Given the description of an element on the screen output the (x, y) to click on. 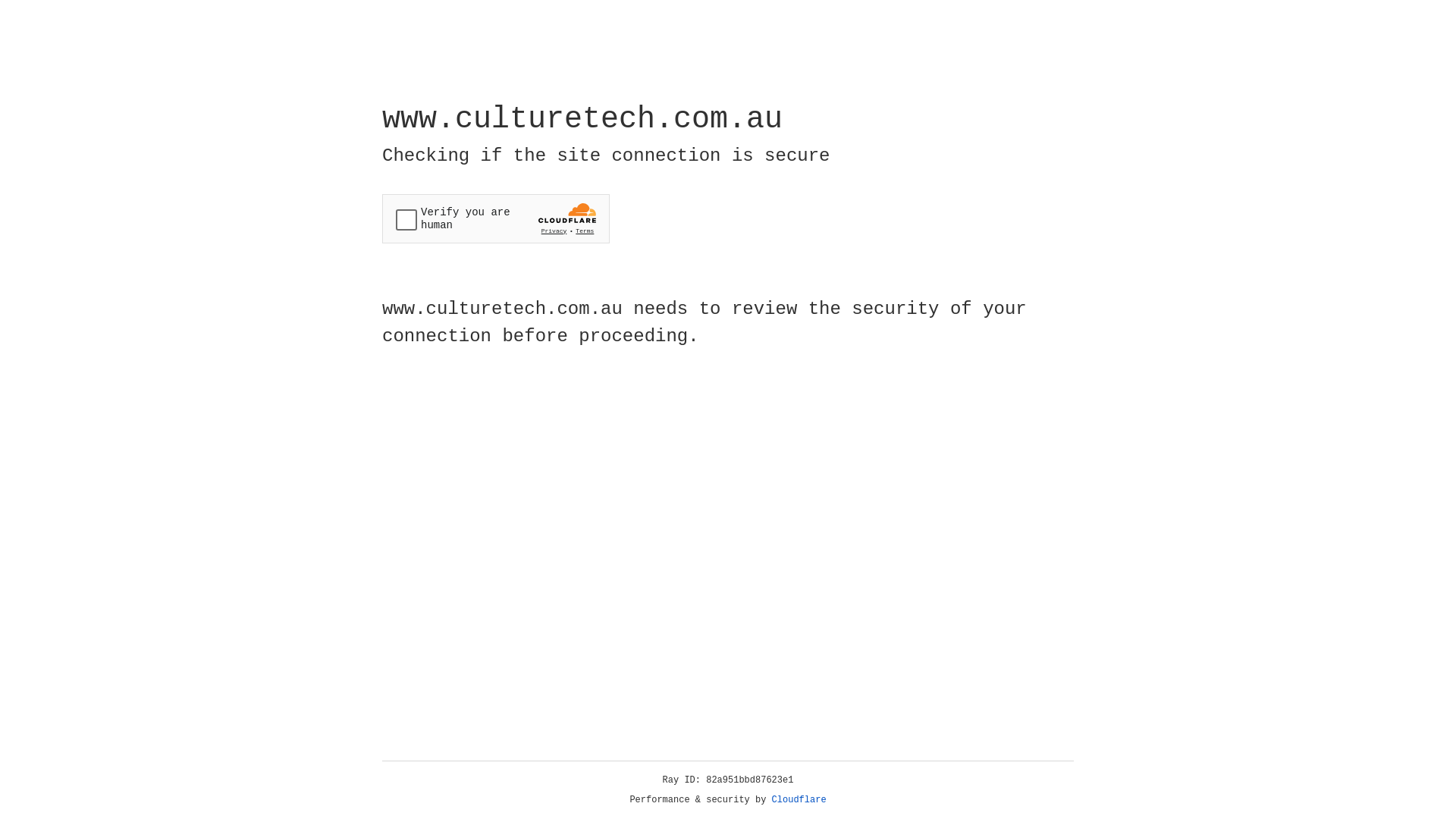
Cloudflare Element type: text (798, 799)
Widget containing a Cloudflare security challenge Element type: hover (495, 218)
